Given the description of an element on the screen output the (x, y) to click on. 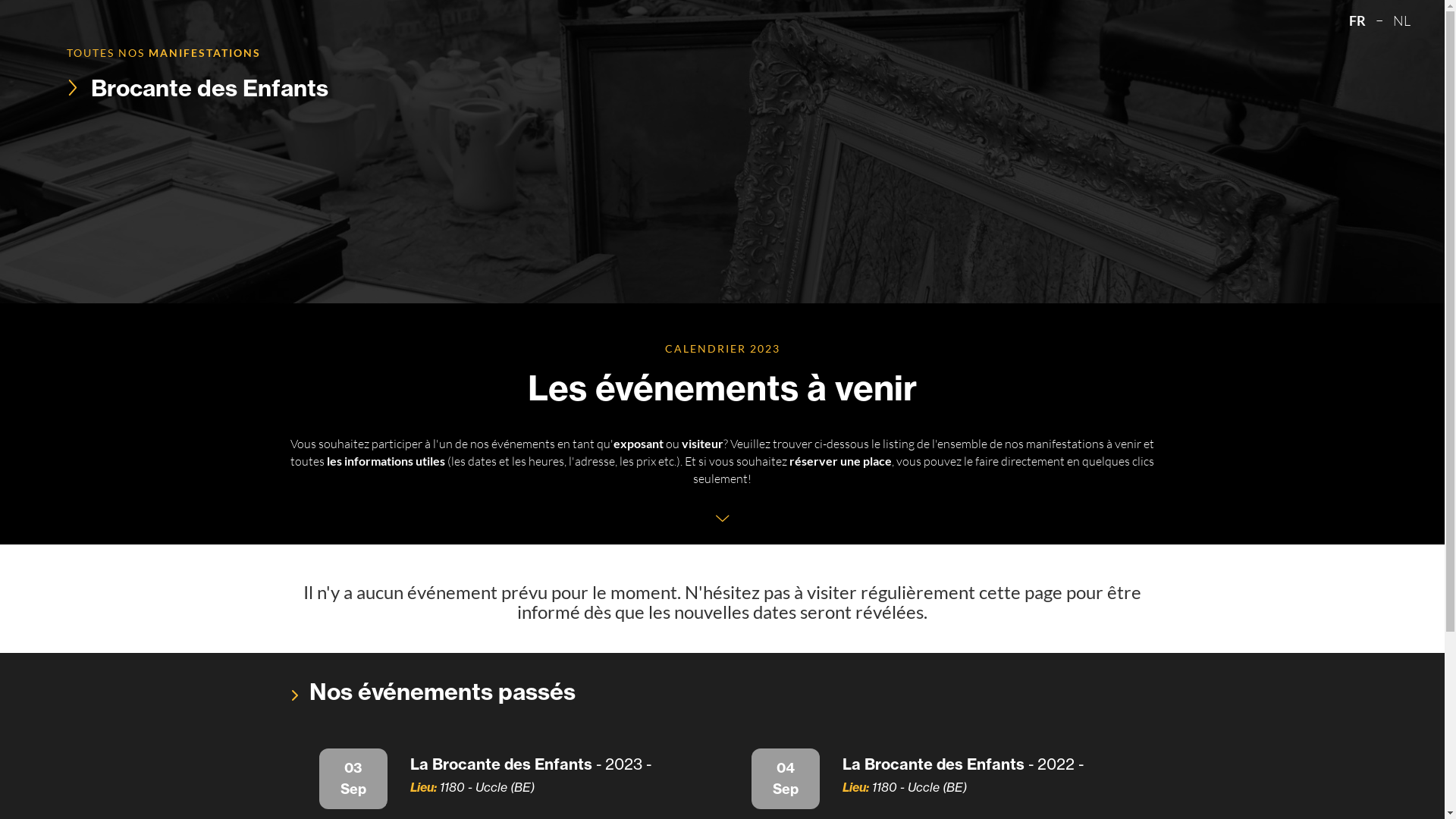
NL Element type: text (1401, 20)
